Given the description of an element on the screen output the (x, y) to click on. 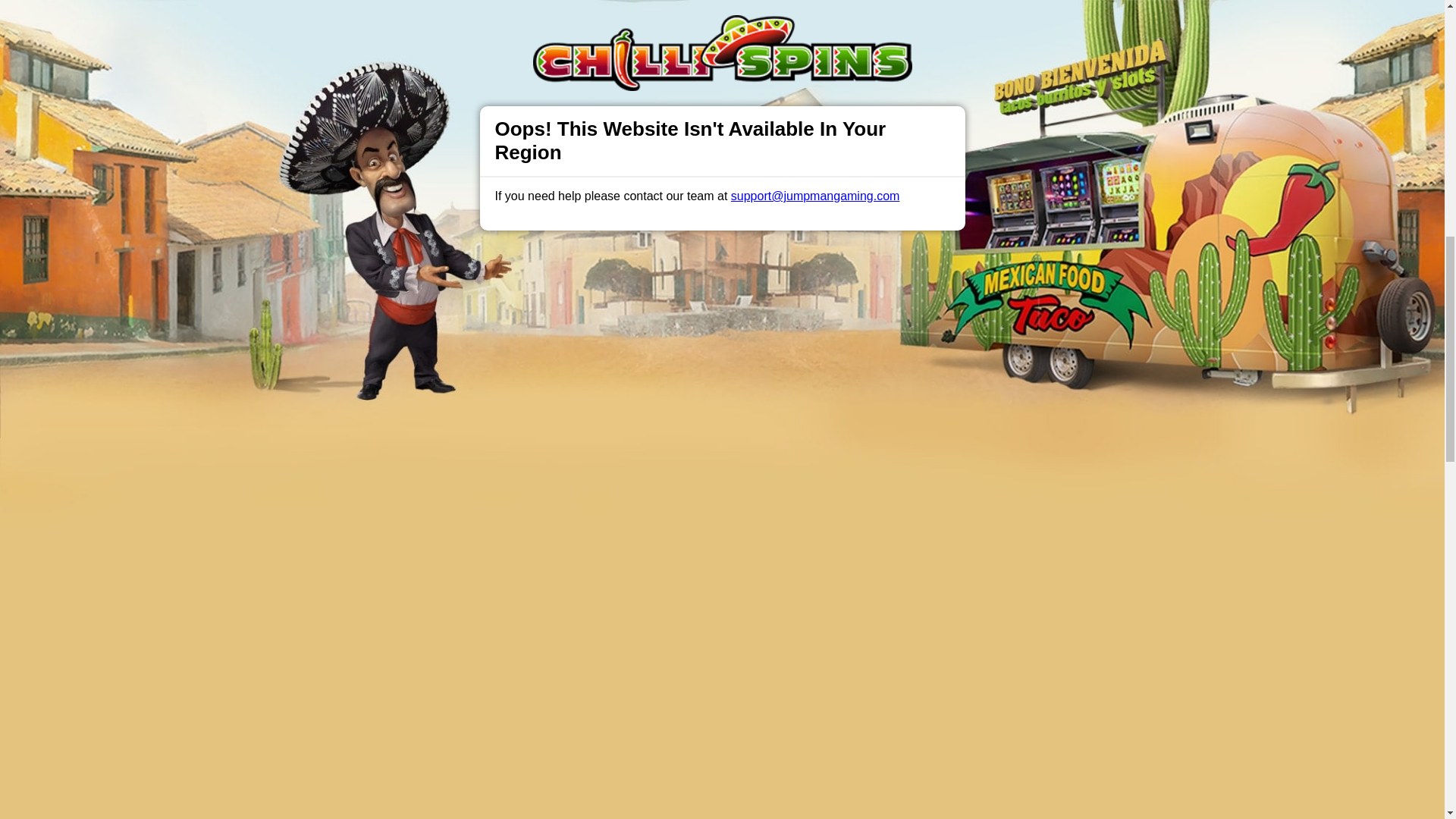
Playing (377, 172)
